Given the description of an element on the screen output the (x, y) to click on. 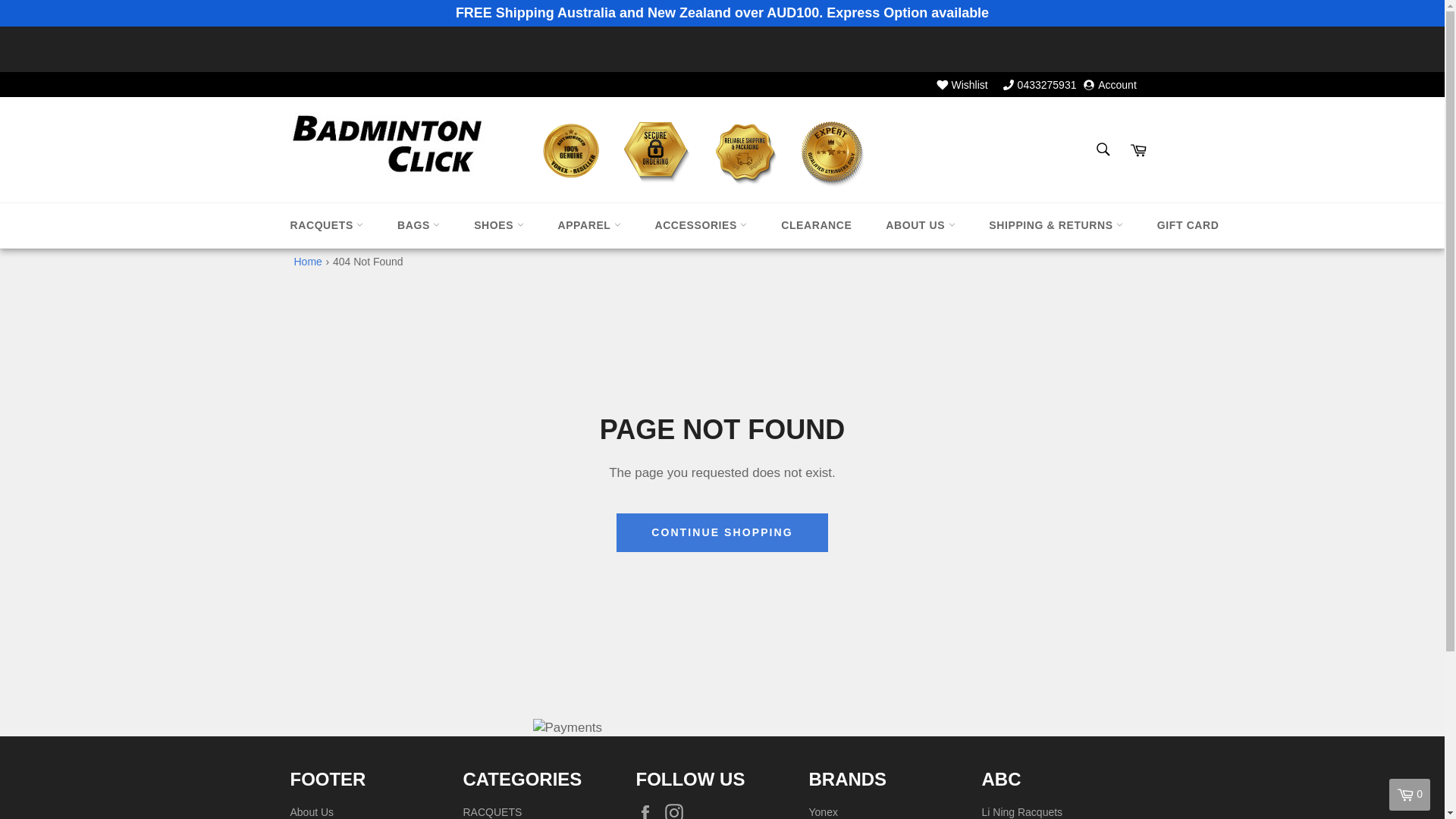
Wishlist (963, 84)
Badminton Click on Instagram (677, 811)
Badminton Click on Facebook (647, 811)
0433275931 (1040, 84)
Home (307, 261)
LI NING Badminton Racquets (1021, 811)
Account (1110, 84)
